Given the description of an element on the screen output the (x, y) to click on. 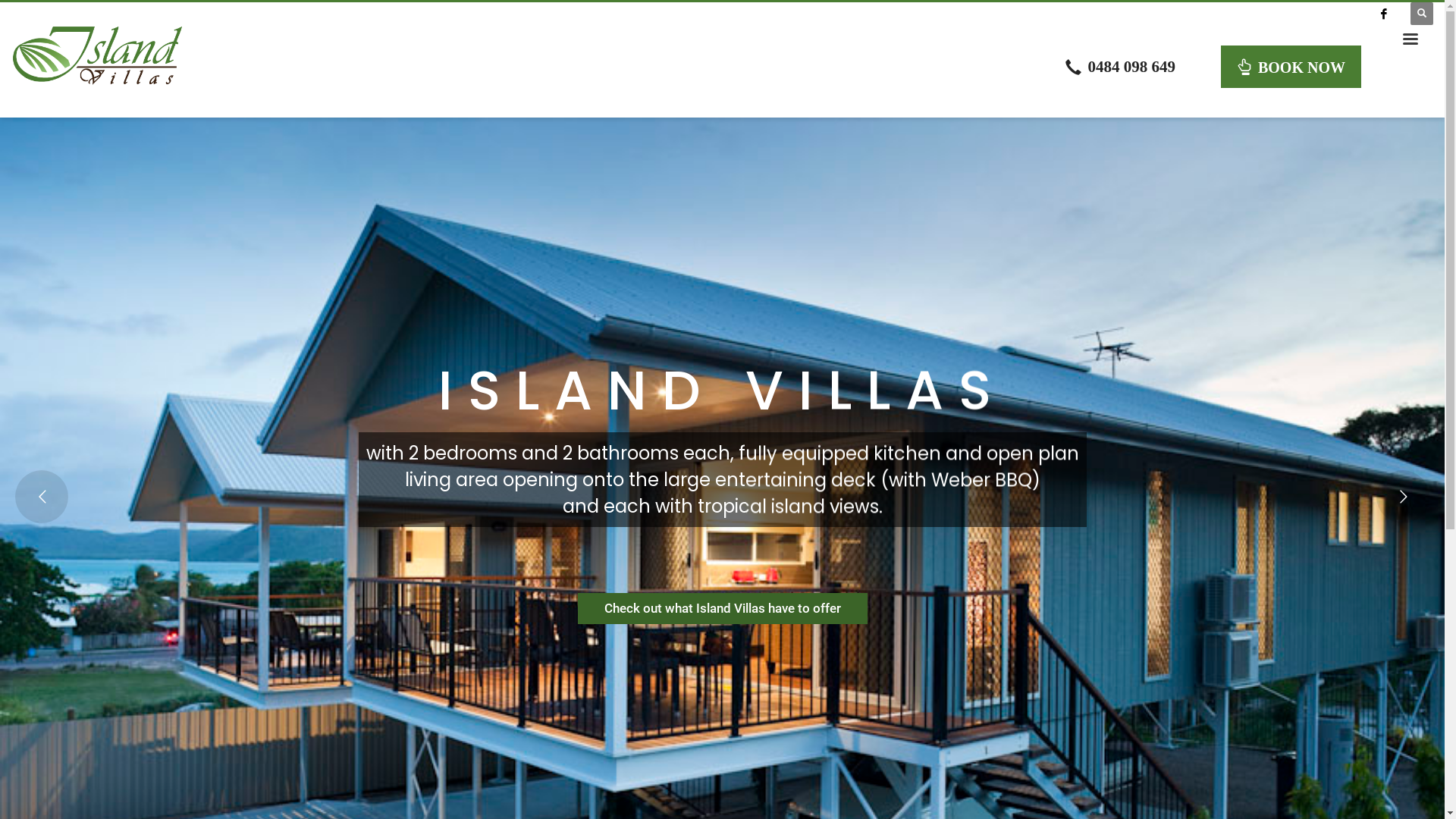
Terms & Conditions Element type: text (1264, 448)
BOOK NOW Element type: text (1290, 66)
go Element type: text (1401, 59)
0484 098 649 Element type: text (1120, 66)
Accommodation Element type: text (1264, 328)
Contact Us Element type: text (1264, 471)
Gallery Element type: text (1264, 352)
Reviews Element type: text (1264, 400)
About Element type: text (1264, 423)
Facebook Element type: hover (1383, 13)
Home Element type: text (1264, 304)
Check Availability Element type: text (1264, 214)
4 star boutique self-catering accommodation Element type: hover (97, 55)
Tourist Information Element type: text (1264, 376)
